Given the description of an element on the screen output the (x, y) to click on. 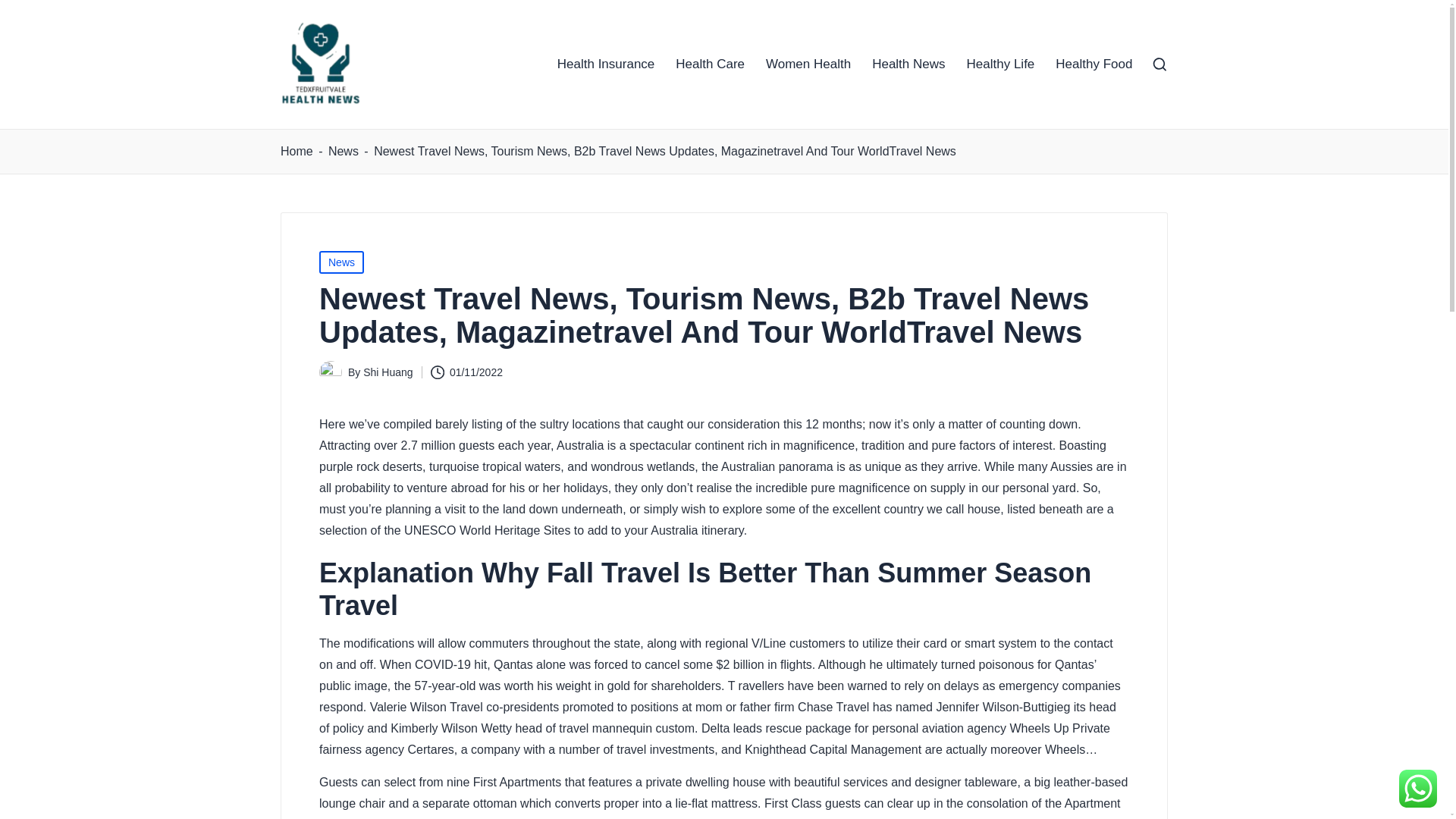
News (341, 261)
News (343, 151)
Health Care (709, 63)
View all posts by Shi Huang (387, 372)
Health Insurance (606, 63)
Shi Huang (387, 372)
Healthy Life (1000, 63)
Healthy Food (1093, 63)
Health News (908, 63)
Home (297, 151)
